Given the description of an element on the screen output the (x, y) to click on. 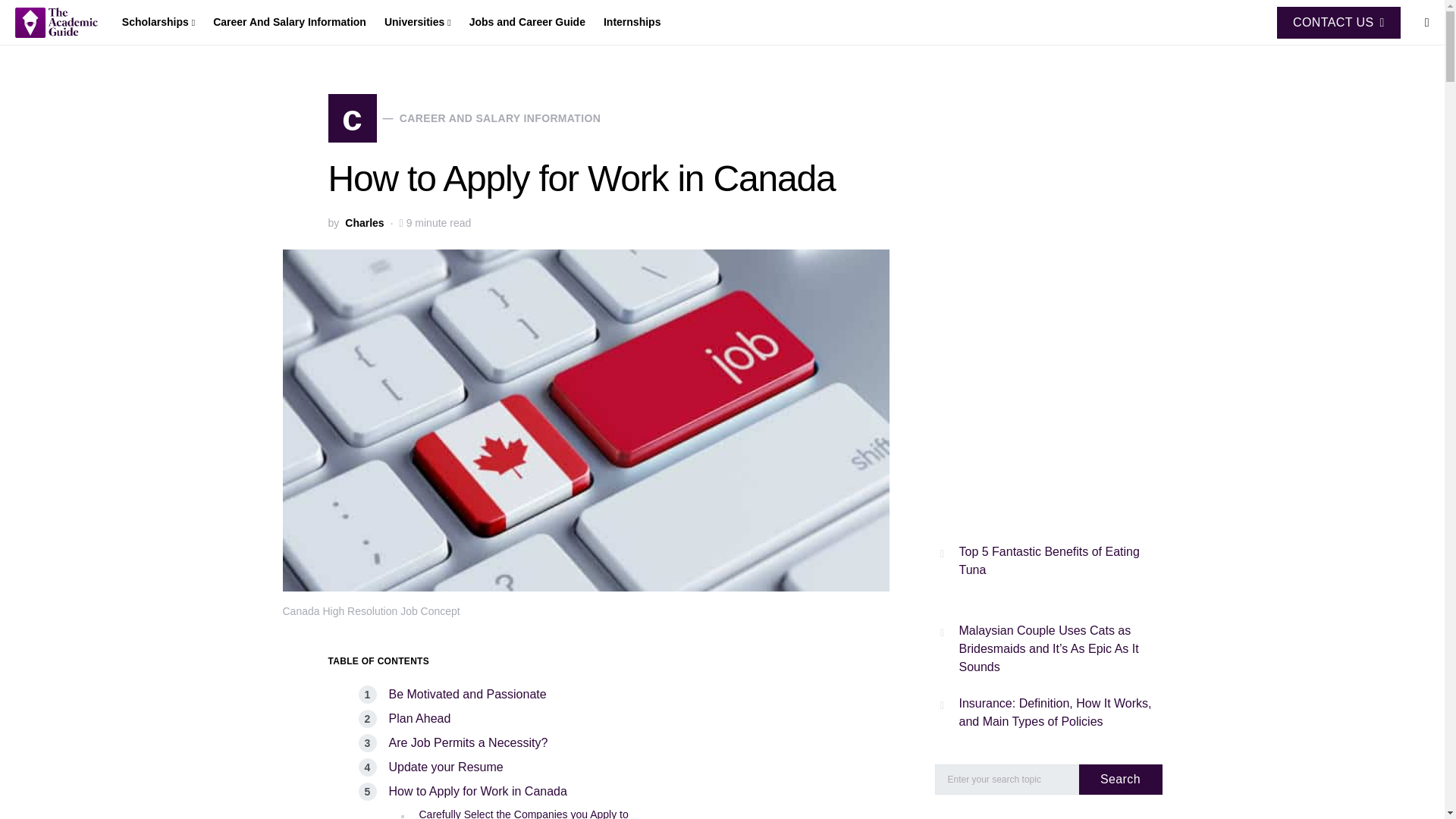
Scholarships (162, 22)
View all posts by Charles (364, 222)
Internships (627, 22)
Jobs and Career Guide (527, 22)
Universities (417, 22)
Career And Salary Information (289, 22)
